Given the description of an element on the screen output the (x, y) to click on. 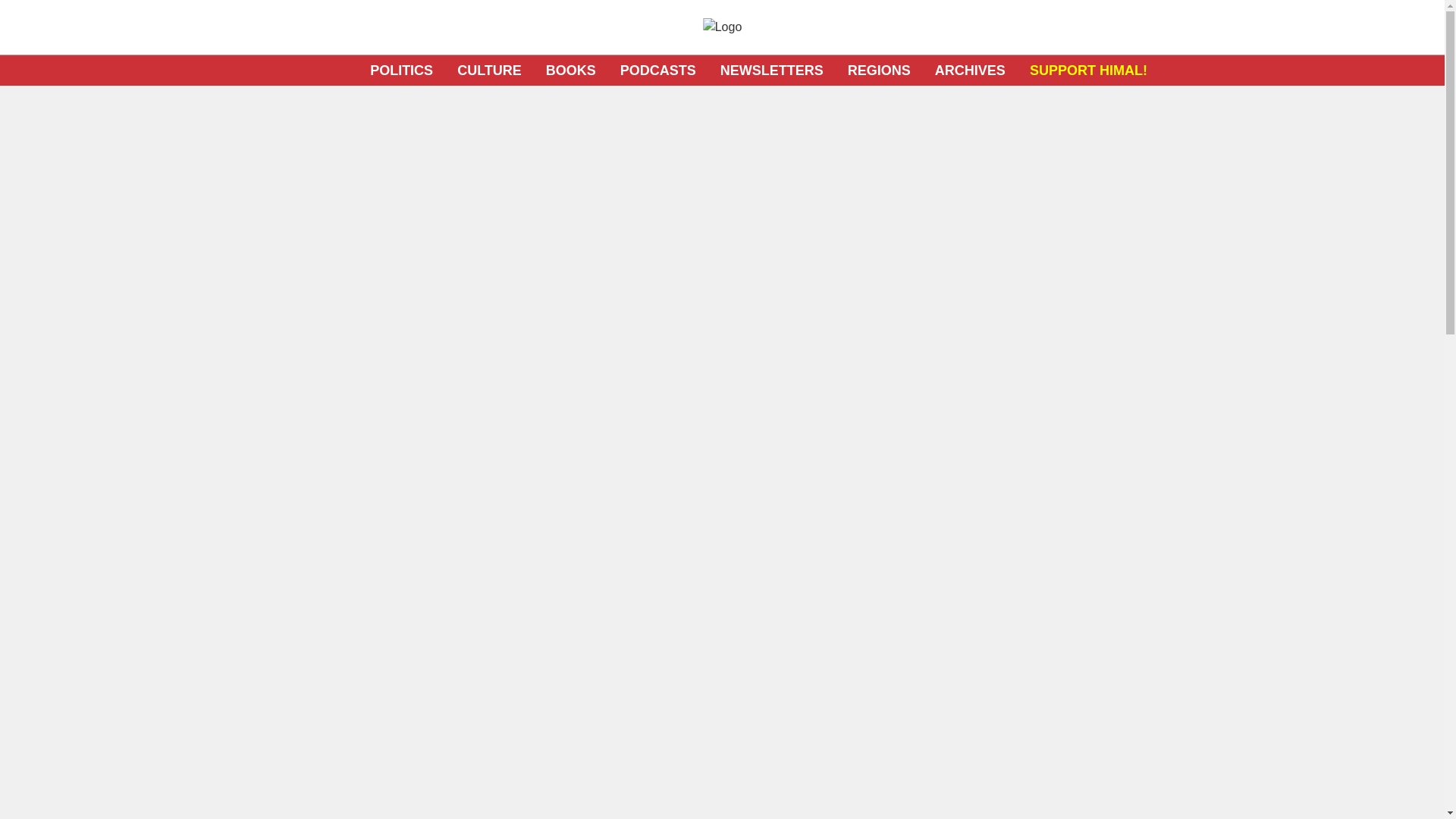
NEWSLETTERS (772, 70)
PODCASTS (657, 70)
POLITICS (400, 70)
SUPPORT HIMAL! (1088, 70)
BOOKS (570, 70)
ARCHIVES (970, 70)
CULTURE (489, 70)
